Given the description of an element on the screen output the (x, y) to click on. 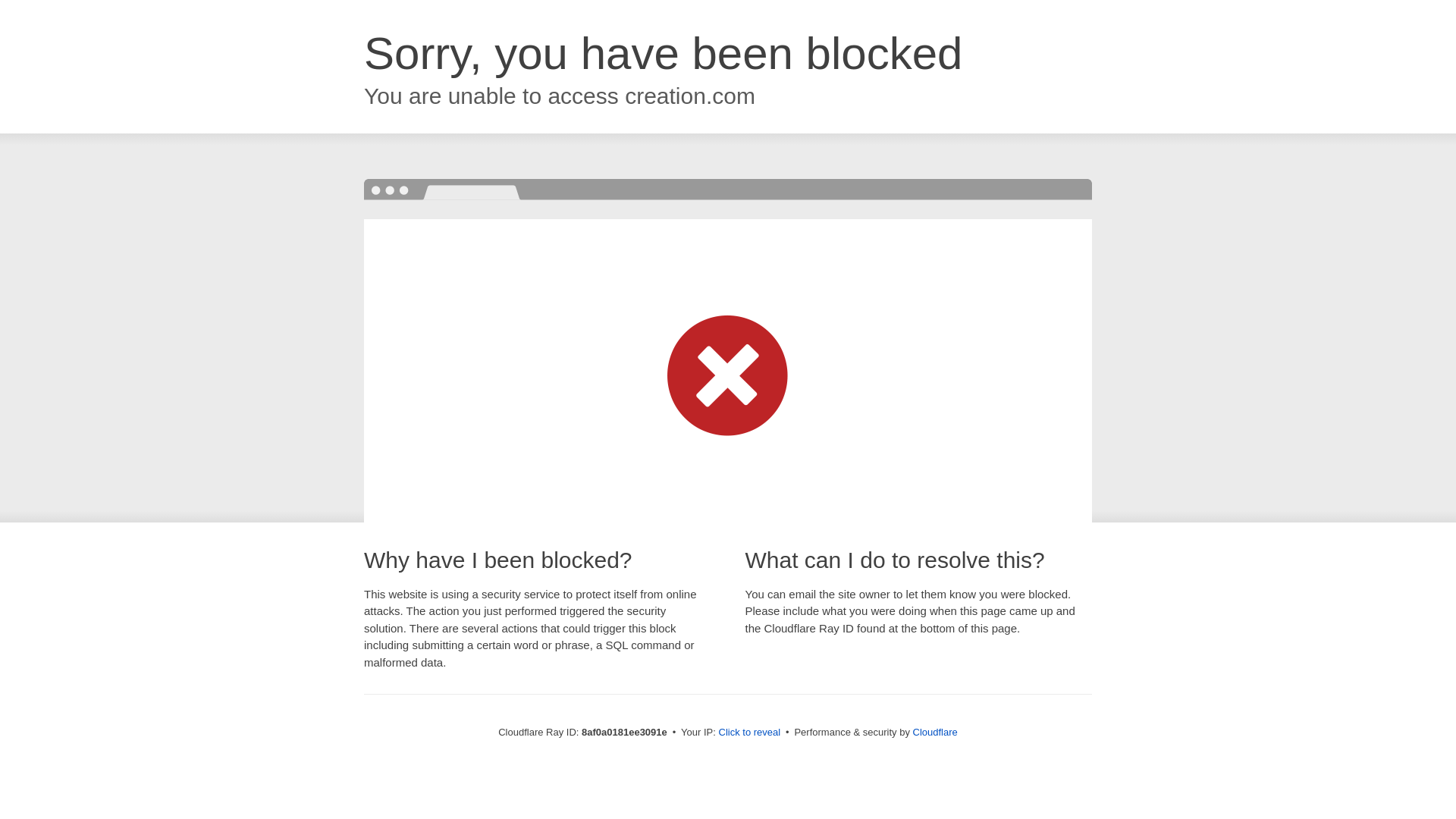
Click to reveal (749, 732)
Cloudflare (935, 731)
